Given the description of an element on the screen output the (x, y) to click on. 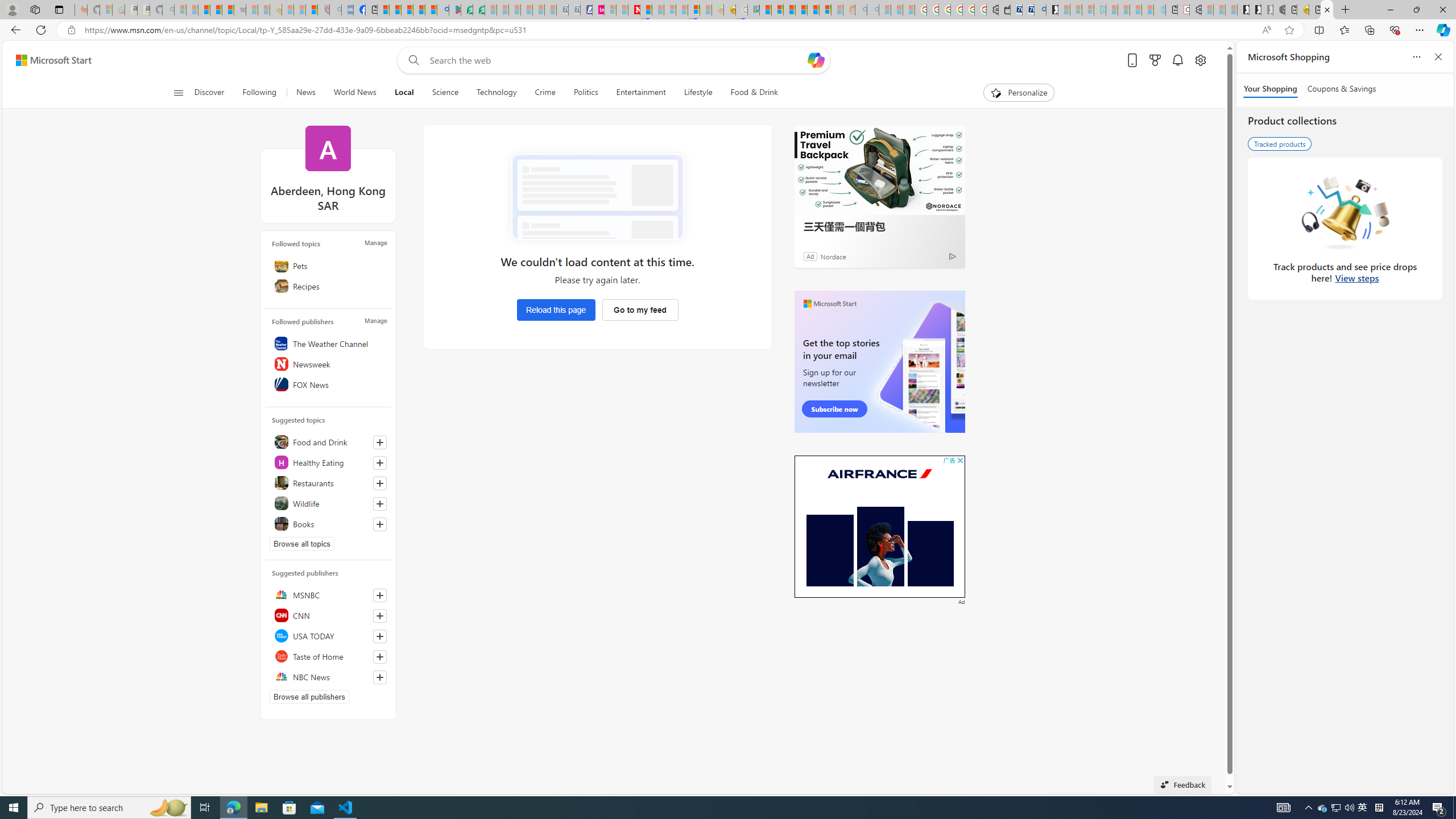
AutomationID: cbb (959, 460)
Follow this topic (379, 523)
Manage (375, 320)
Browse all topics (301, 543)
Open settings (1199, 60)
